Given the description of an element on the screen output the (x, y) to click on. 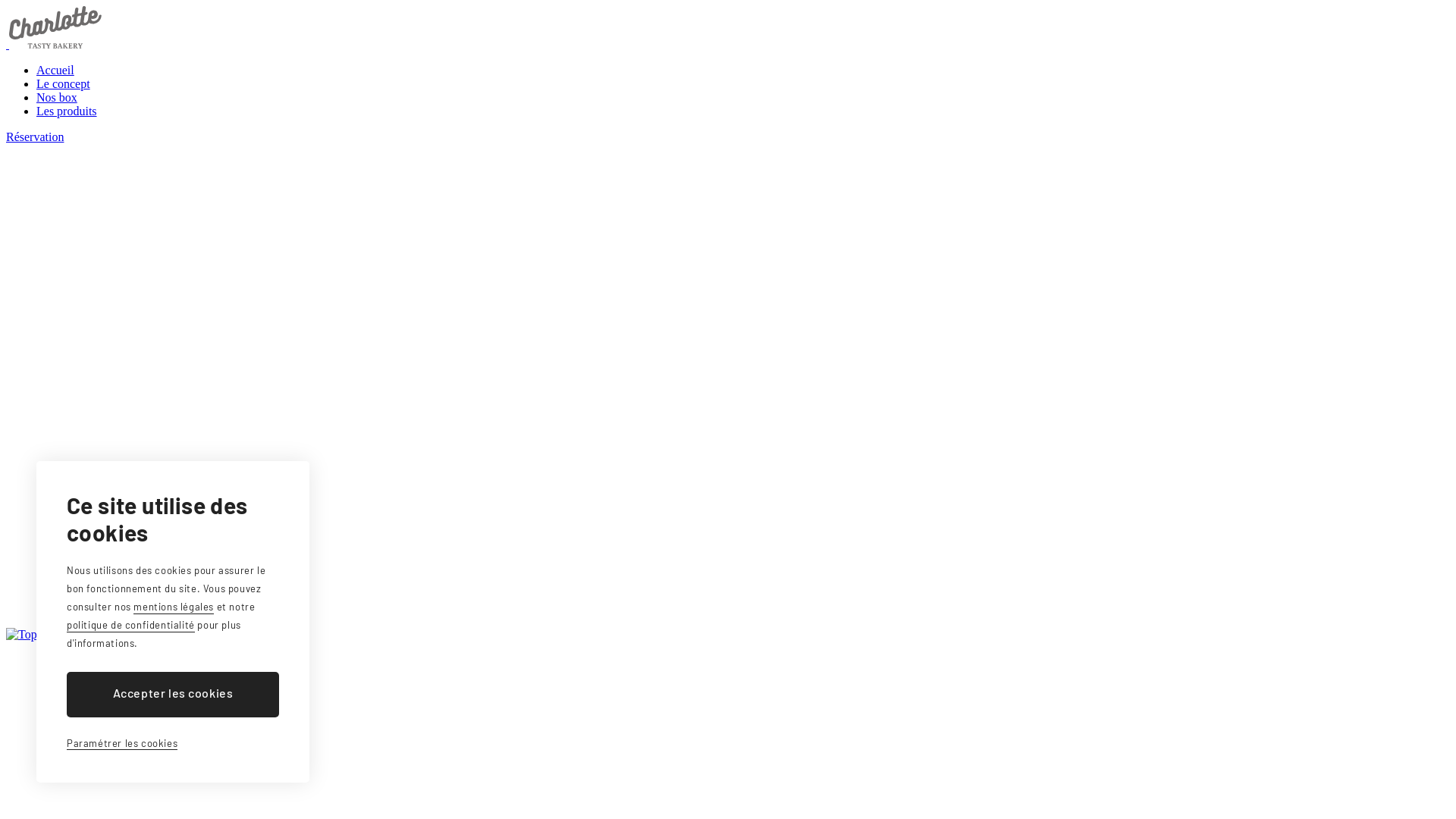
Les produits Element type: text (66, 110)
Nos box Element type: text (56, 97)
Le concept Element type: text (63, 83)
Accueil Element type: text (55, 69)
